Given the description of an element on the screen output the (x, y) to click on. 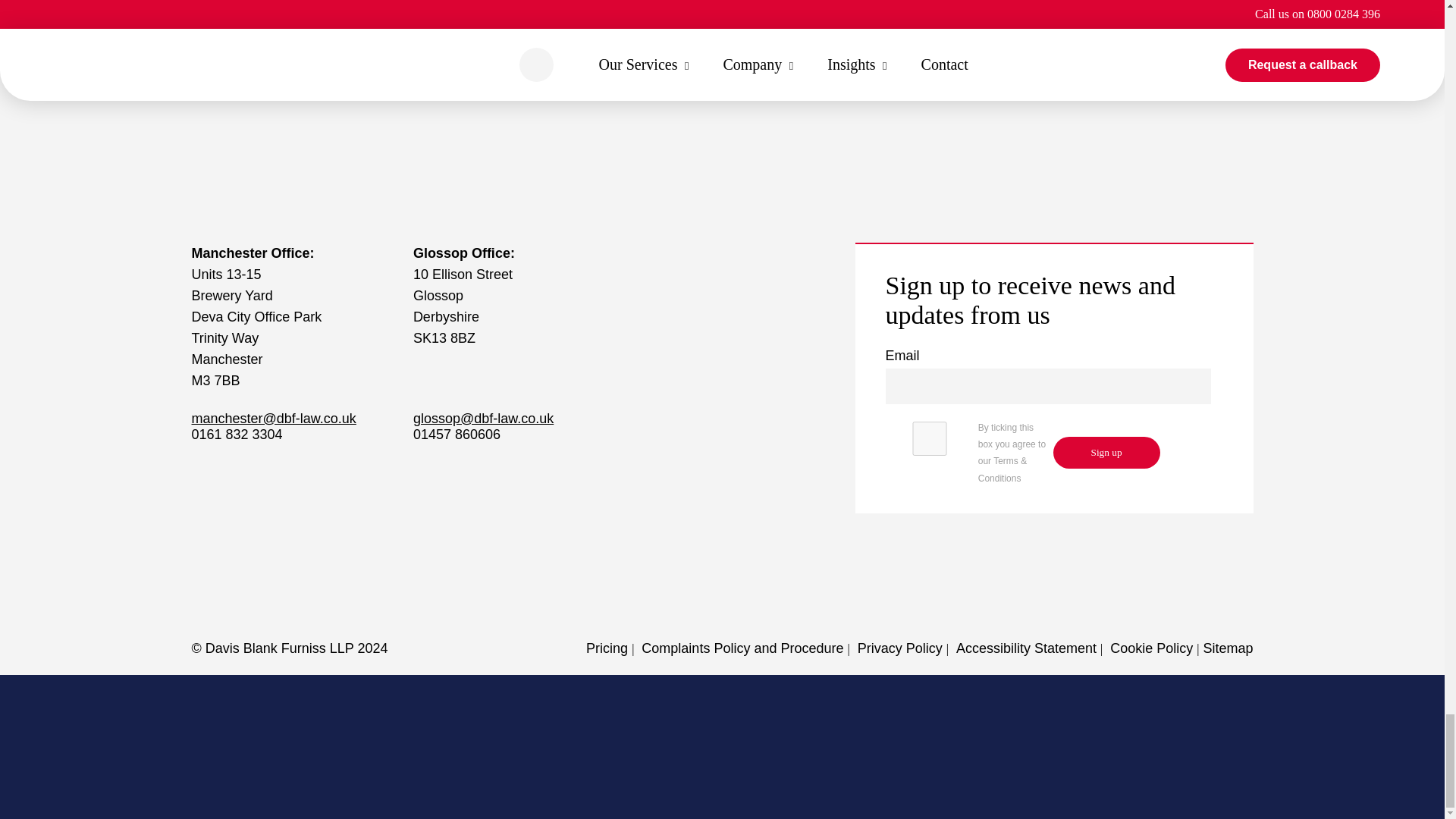
1 (929, 438)
